Given the description of an element on the screen output the (x, y) to click on. 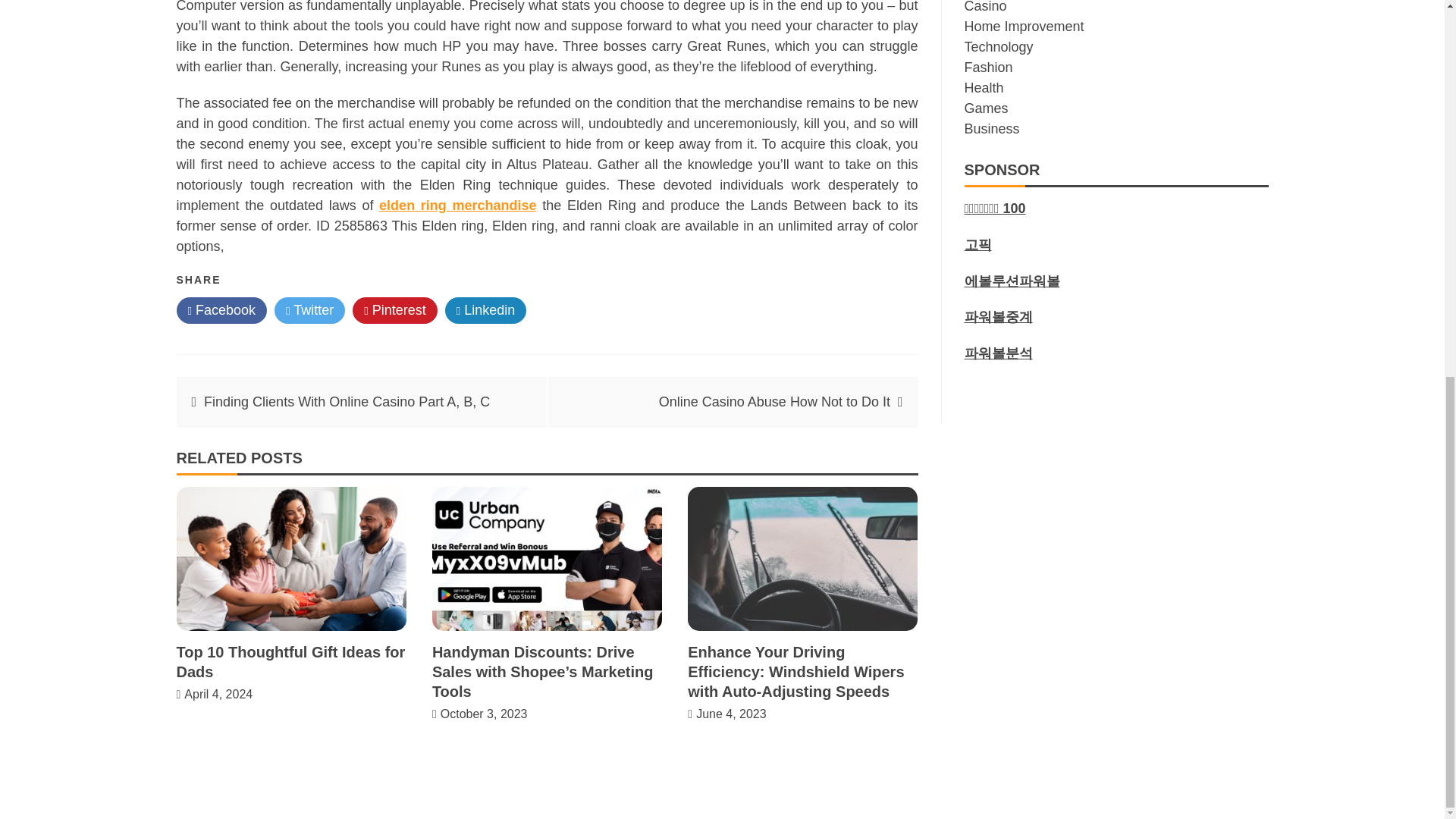
Finding Clients With Online Casino Part A, B, C (346, 401)
Facebook (221, 310)
October 3, 2023 (484, 713)
elden ring merchandise (456, 205)
Top 10 Thoughtful Gift Ideas for Dads (290, 661)
April 4, 2024 (217, 694)
Linkedin (486, 310)
Pinterest (395, 310)
Online Casino Abuse How Not to Do It (774, 401)
